Given the description of an element on the screen output the (x, y) to click on. 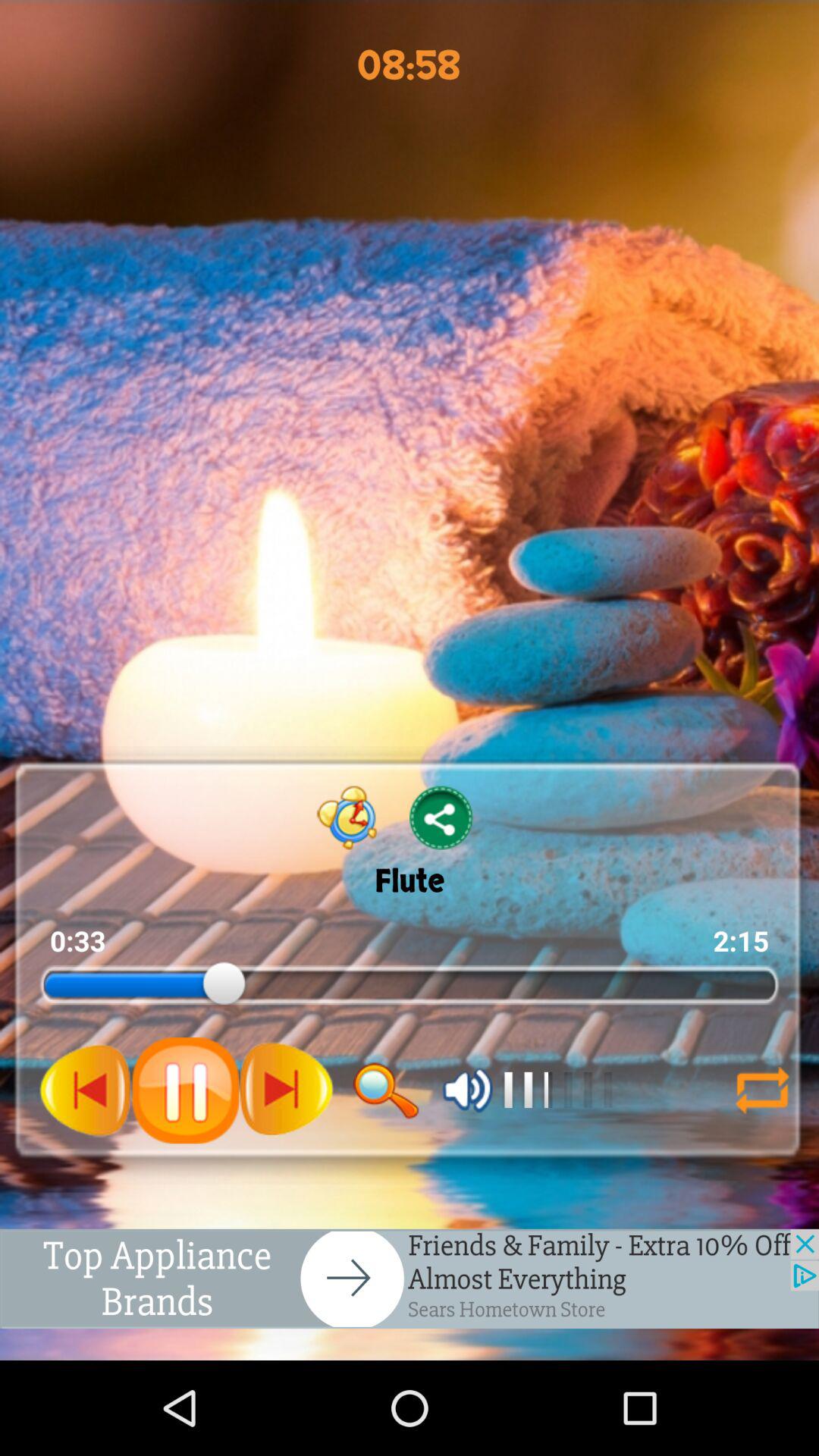
pause the music (185, 1090)
